Given the description of an element on the screen output the (x, y) to click on. 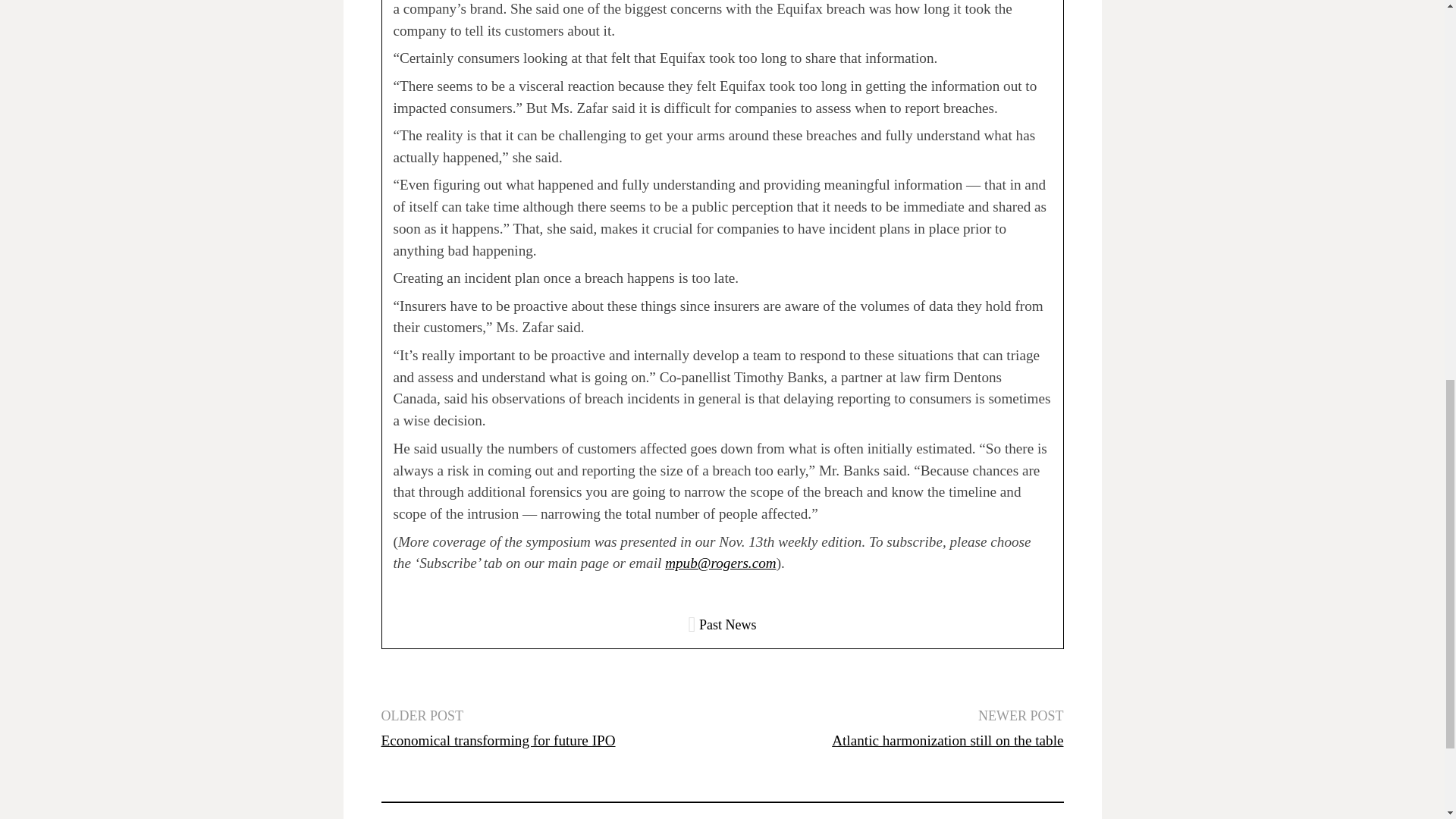
Economical transforming for future IPO (497, 740)
Past News (727, 624)
Atlantic harmonization still on the table (946, 740)
